Given the description of an element on the screen output the (x, y) to click on. 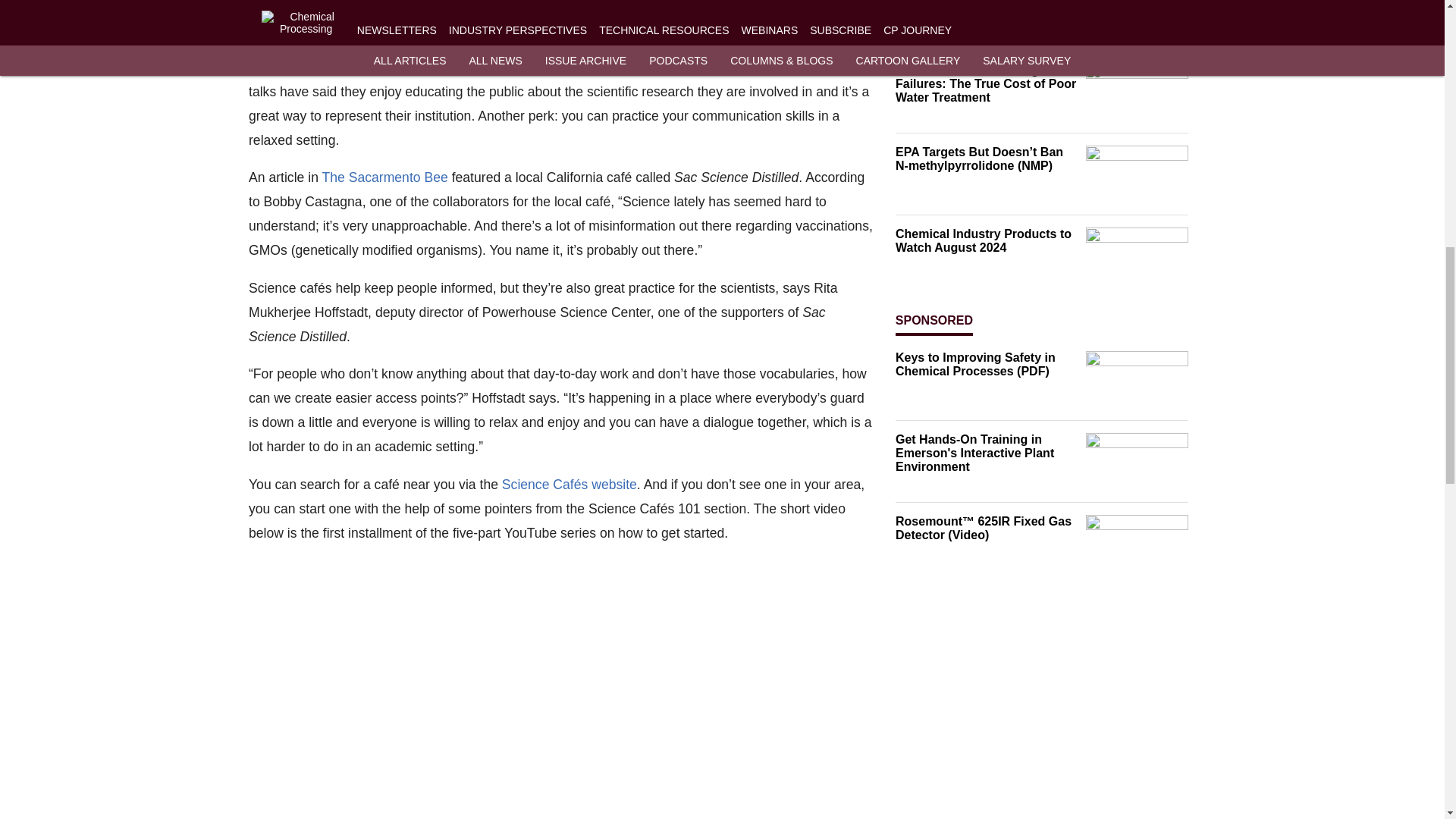
The Sacarmento Bee (383, 177)
